Given the description of an element on the screen output the (x, y) to click on. 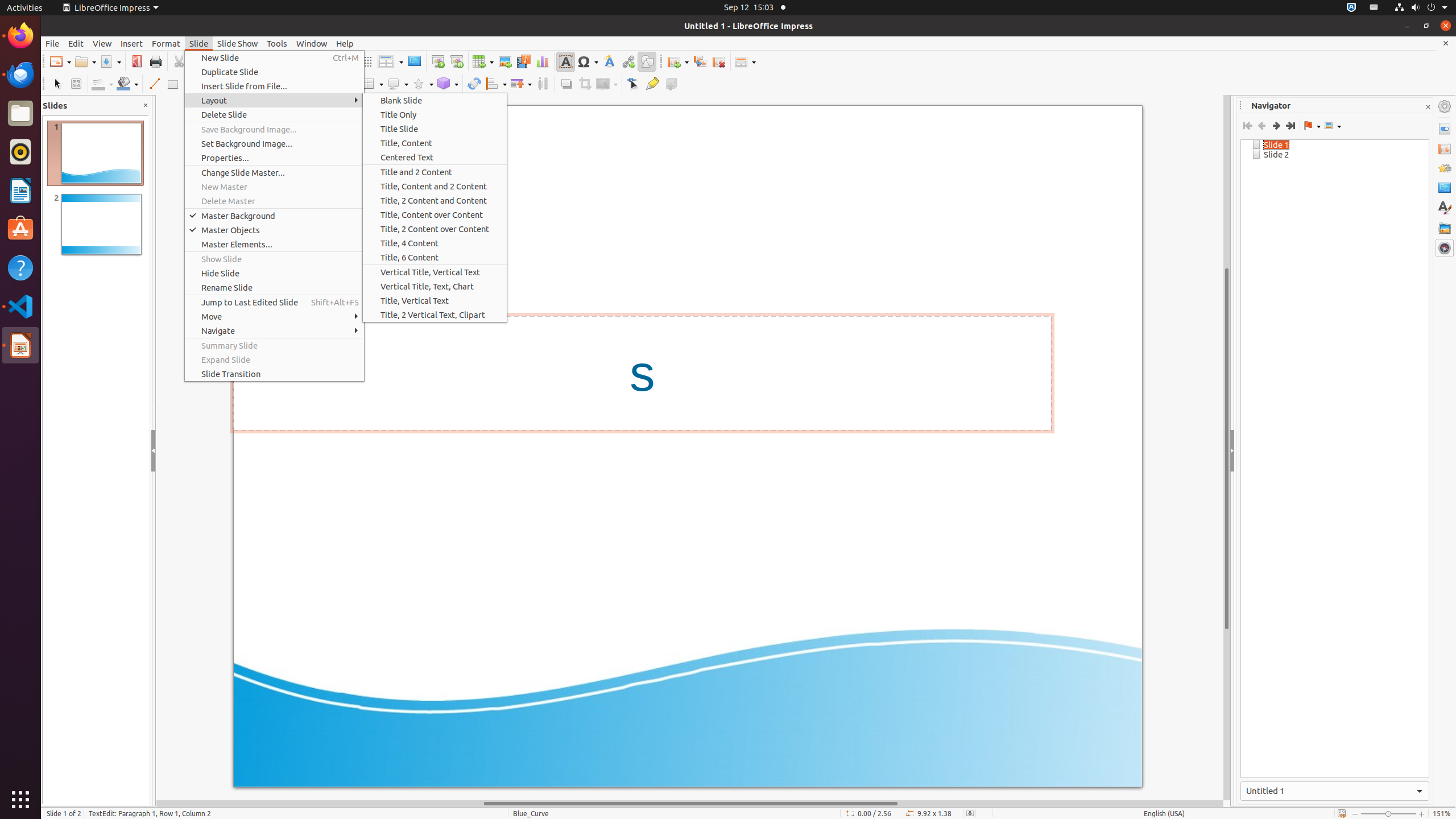
Properties Element type: radio-button (1444, 128)
Fill Color Element type: push-button (126, 83)
Visual Studio Code Element type: push-button (20, 306)
Move Element type: menu (274, 316)
Last Slide Element type: push-button (1290, 125)
